Given the description of an element on the screen output the (x, y) to click on. 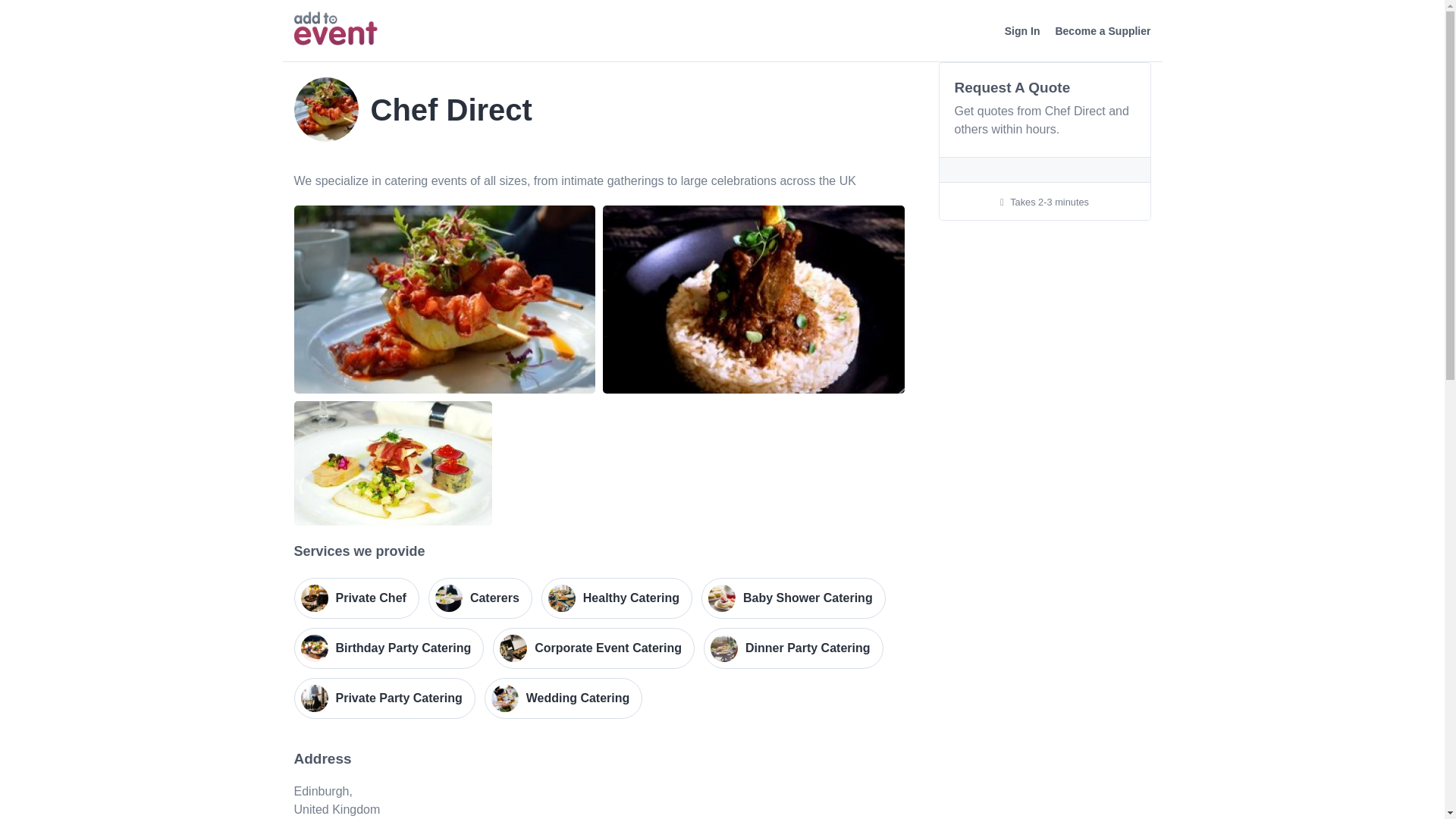
Private Chef (356, 598)
Home (335, 28)
Baby Shower Catering (793, 598)
Corporate Event Catering (593, 648)
Become a Supplier (1102, 31)
Wedding Catering (563, 698)
Caterers (480, 598)
Healthy Catering (617, 598)
Dinner Party Catering (792, 648)
